Given the description of an element on the screen output the (x, y) to click on. 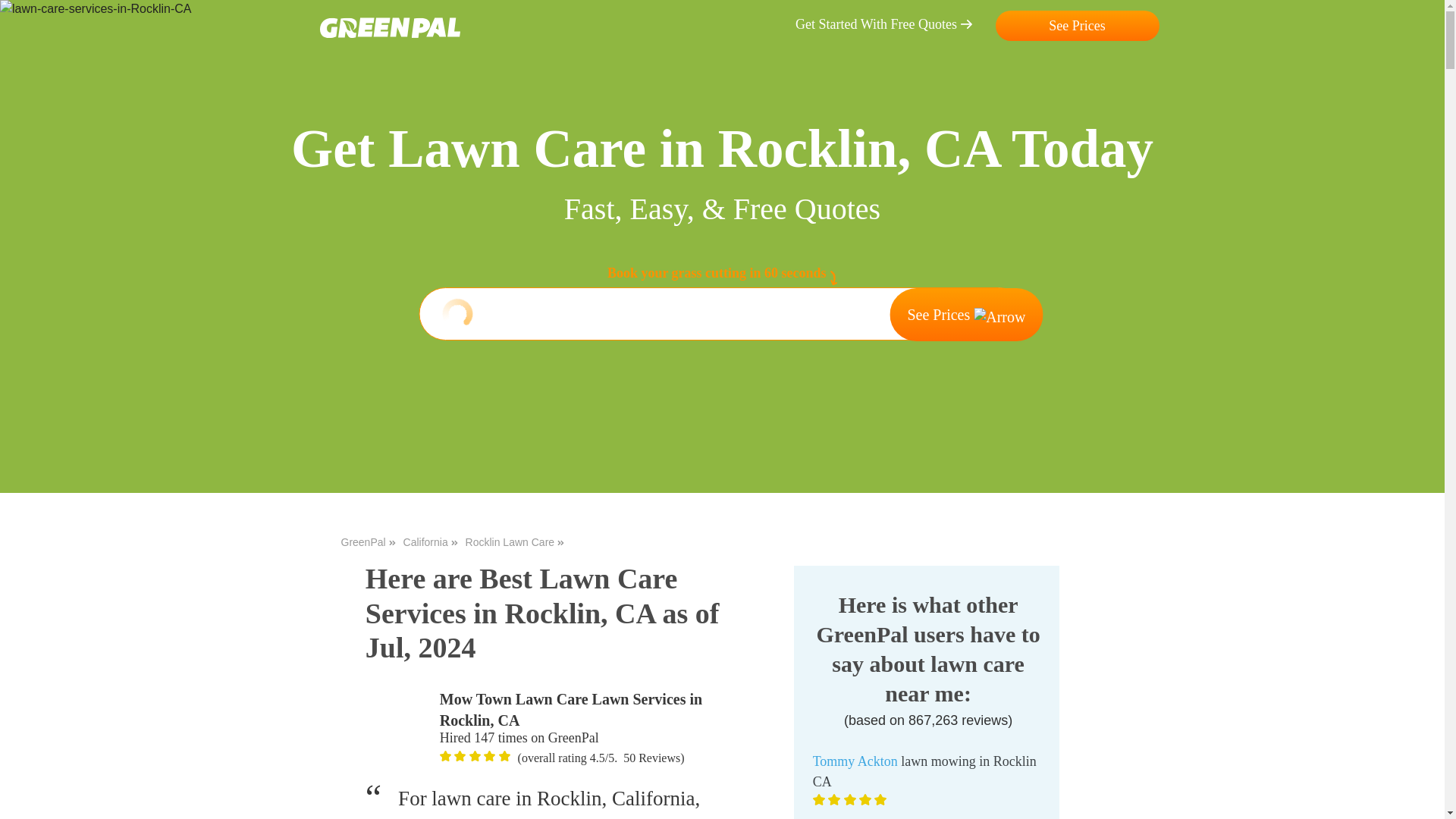
local-lawn-maintenance-contractors-in-Rocklin-CA (505, 756)
the-yard-cutting-businesses-in-Rocklin-CA (398, 721)
affordable-grass-cutting-businesses-in-Rocklin-CA (459, 756)
local-lawn-maintenance-contractors-in-Rocklin-CA (445, 756)
Get Started With Free Quotes (891, 23)
See Prices (965, 314)
local-lawn-maintenance-contractors-in-Rocklin-CA (96, 9)
GreenPal (368, 542)
affordable-landscaping-maintenance-services-in-Rocklin-CA (474, 756)
California (430, 542)
cheap-lawn-cutting-businesses-in-Rocklin-CA (489, 756)
Rocklin Lawn Care (514, 542)
See Prices (1076, 25)
affordable-grass-cutting-businesses-in-Rocklin-CA (390, 27)
